Given the description of an element on the screen output the (x, y) to click on. 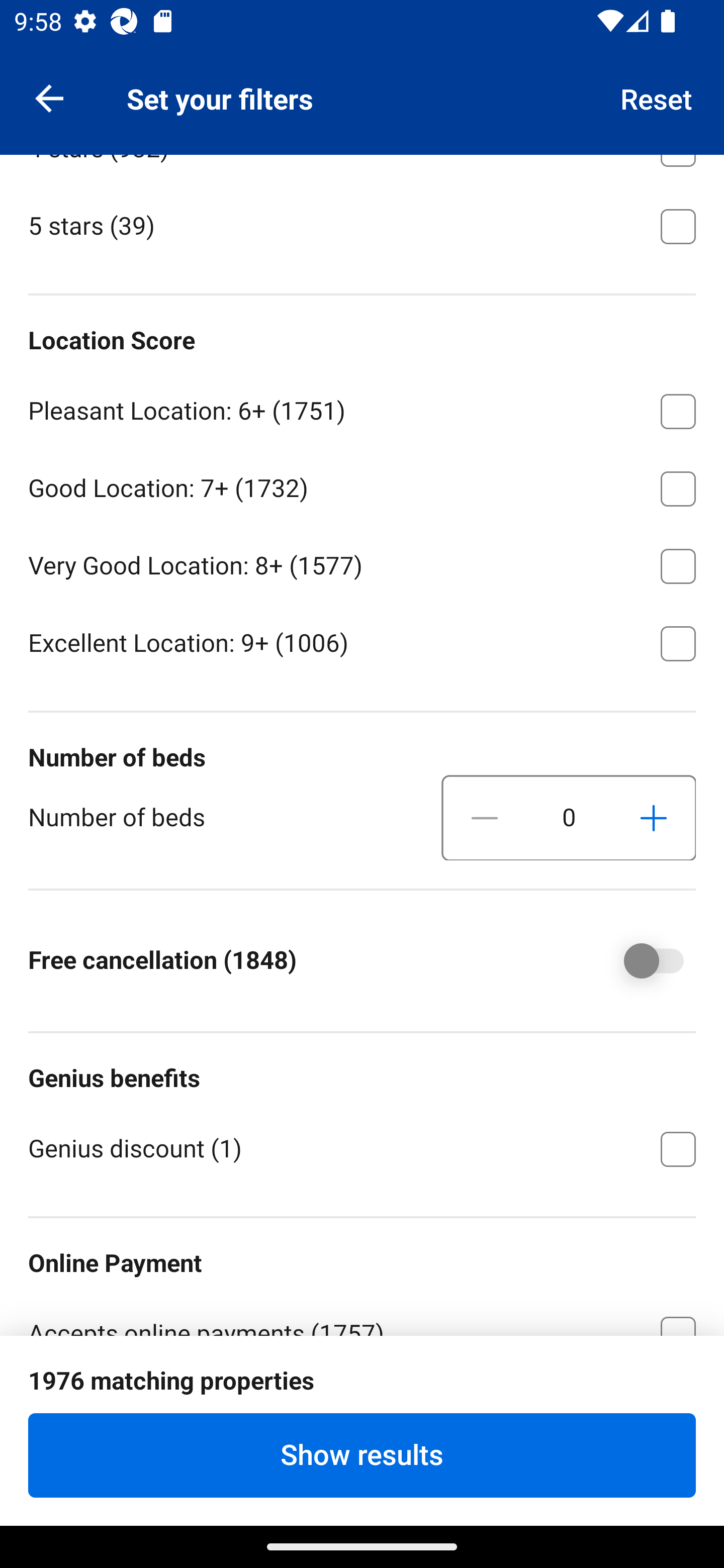
Navigate up (49, 97)
Reset (656, 97)
5 stars ⁦(39) (361, 224)
Pleasant Location: 6+ ⁦(1751) (361, 408)
Good Location: 7+ ⁦(1732) (361, 484)
Very Good Location: 8+ ⁦(1577) (361, 562)
Excellent Location: 9+ ⁦(1006) (361, 642)
Decrease (484, 818)
Increase (653, 818)
Free cancellation ⁦(1848) (639, 960)
Genius discount ⁦(1) (361, 1147)
Show results (361, 1454)
